Given the description of an element on the screen output the (x, y) to click on. 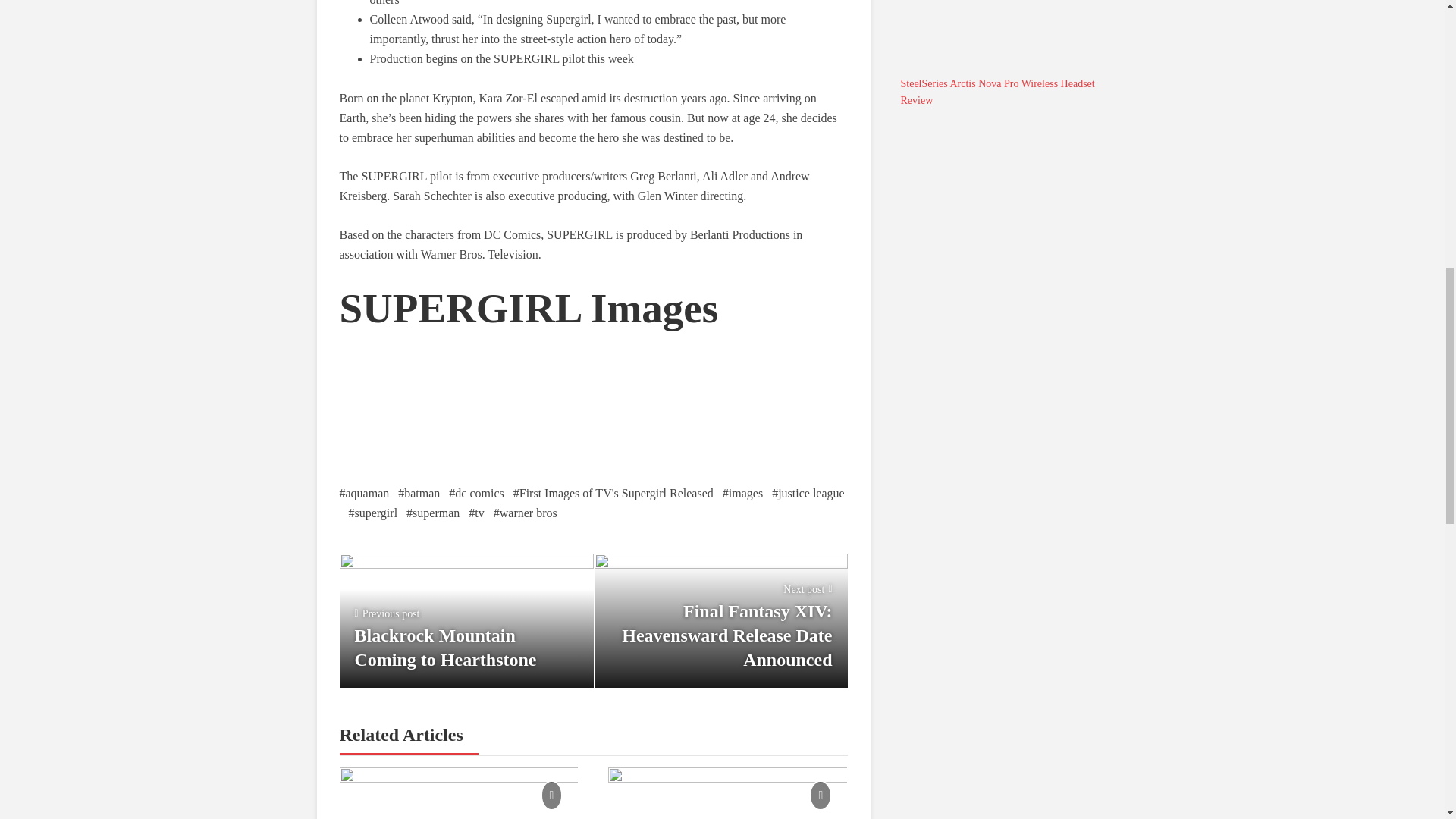
Dead Age 2 Console Release Dates Announced (458, 793)
